Given the description of an element on the screen output the (x, y) to click on. 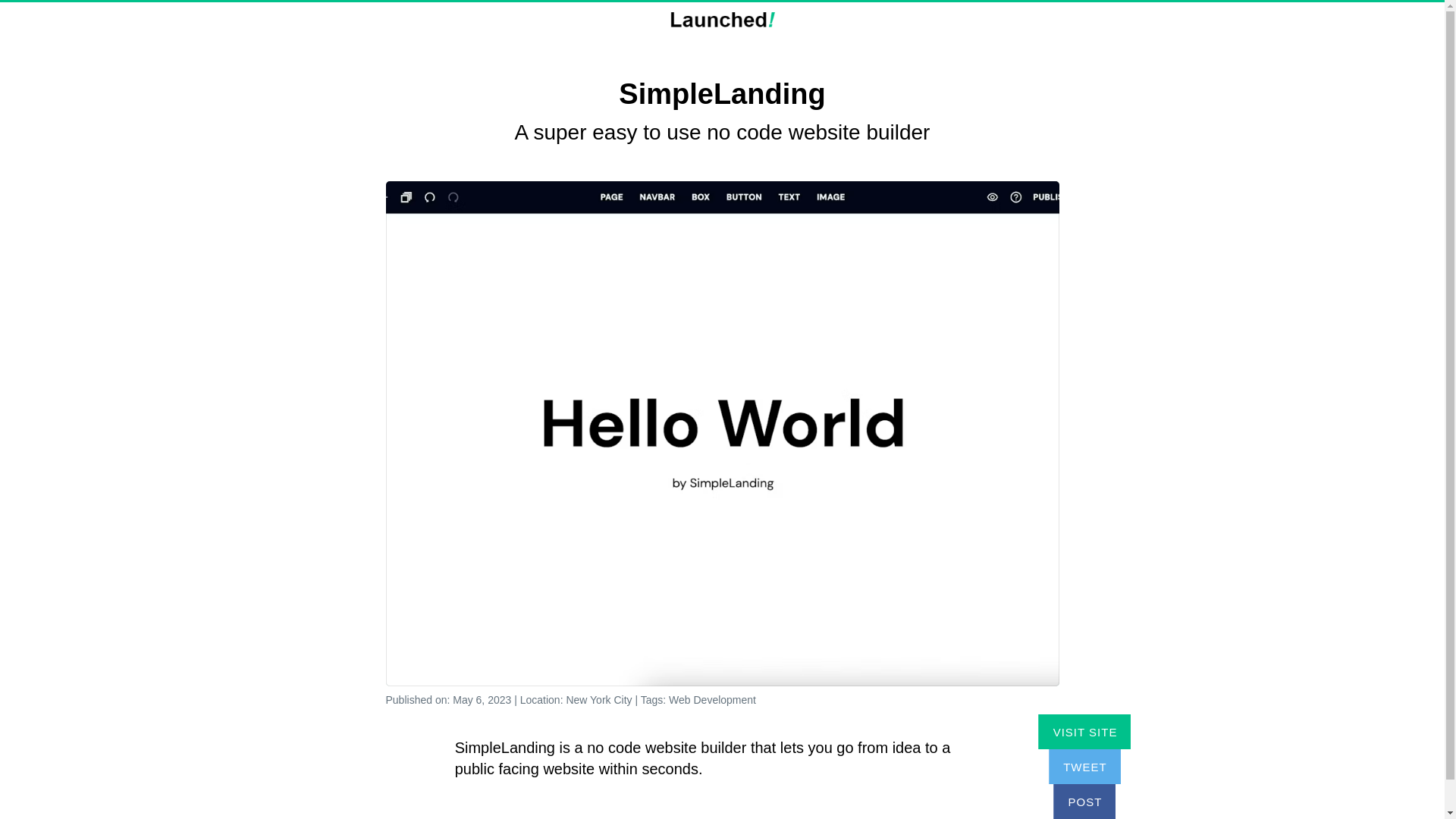
 VISIT SITE (1084, 731)
 POST (1083, 801)
 TWEET (1083, 766)
